Given the description of an element on the screen output the (x, y) to click on. 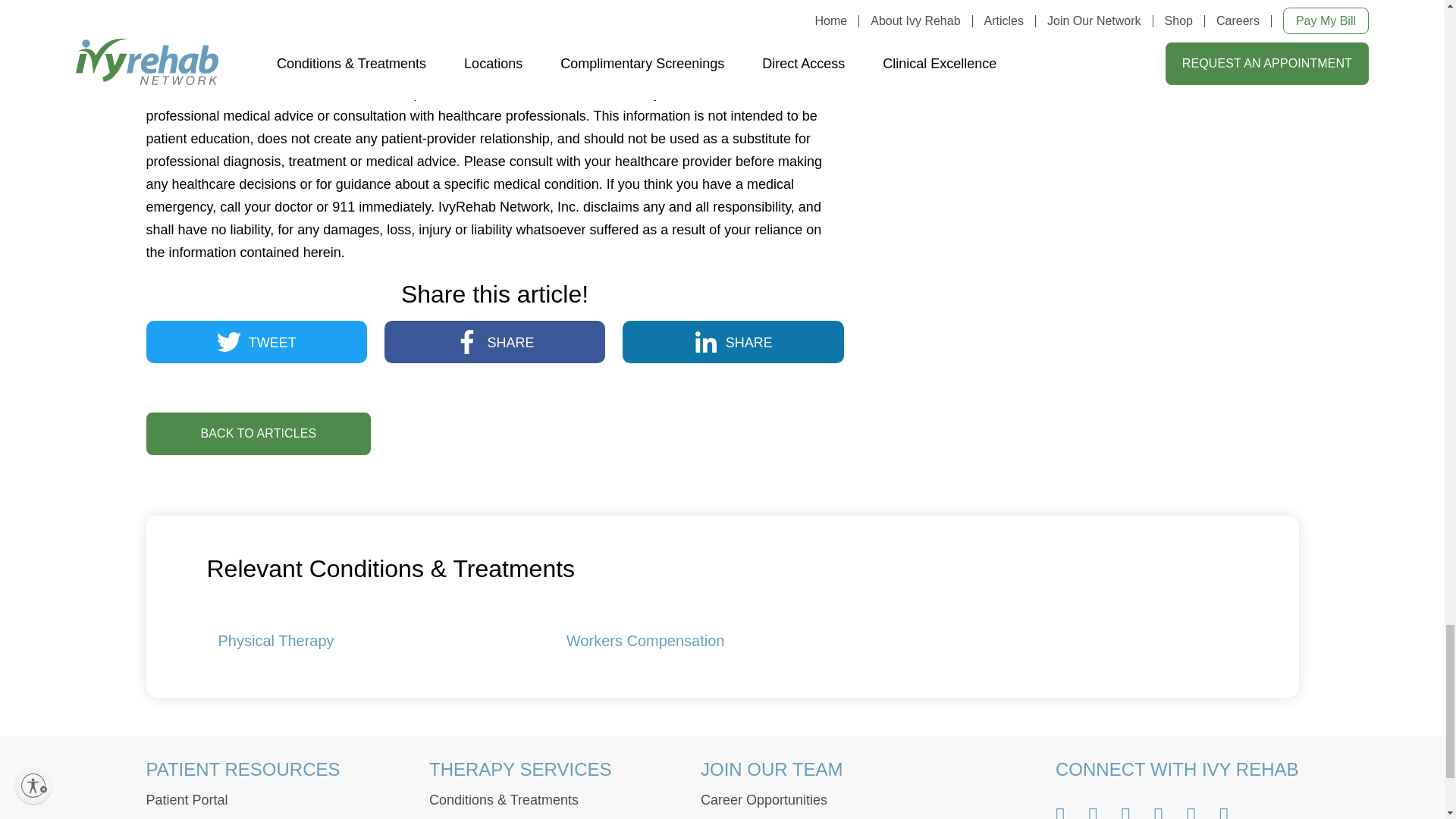
FACEBOOK SHARE (494, 342)
Physical Therapy (275, 640)
FACEBOOK (466, 341)
BACK TO ARTICLES (258, 433)
Patient Portal (186, 799)
TWITTER (228, 341)
LINKEDIN SHARE (733, 342)
LINKEDIN (705, 341)
TWITTER TWEET (255, 342)
Workers Compensation (645, 640)
